Given the description of an element on the screen output the (x, y) to click on. 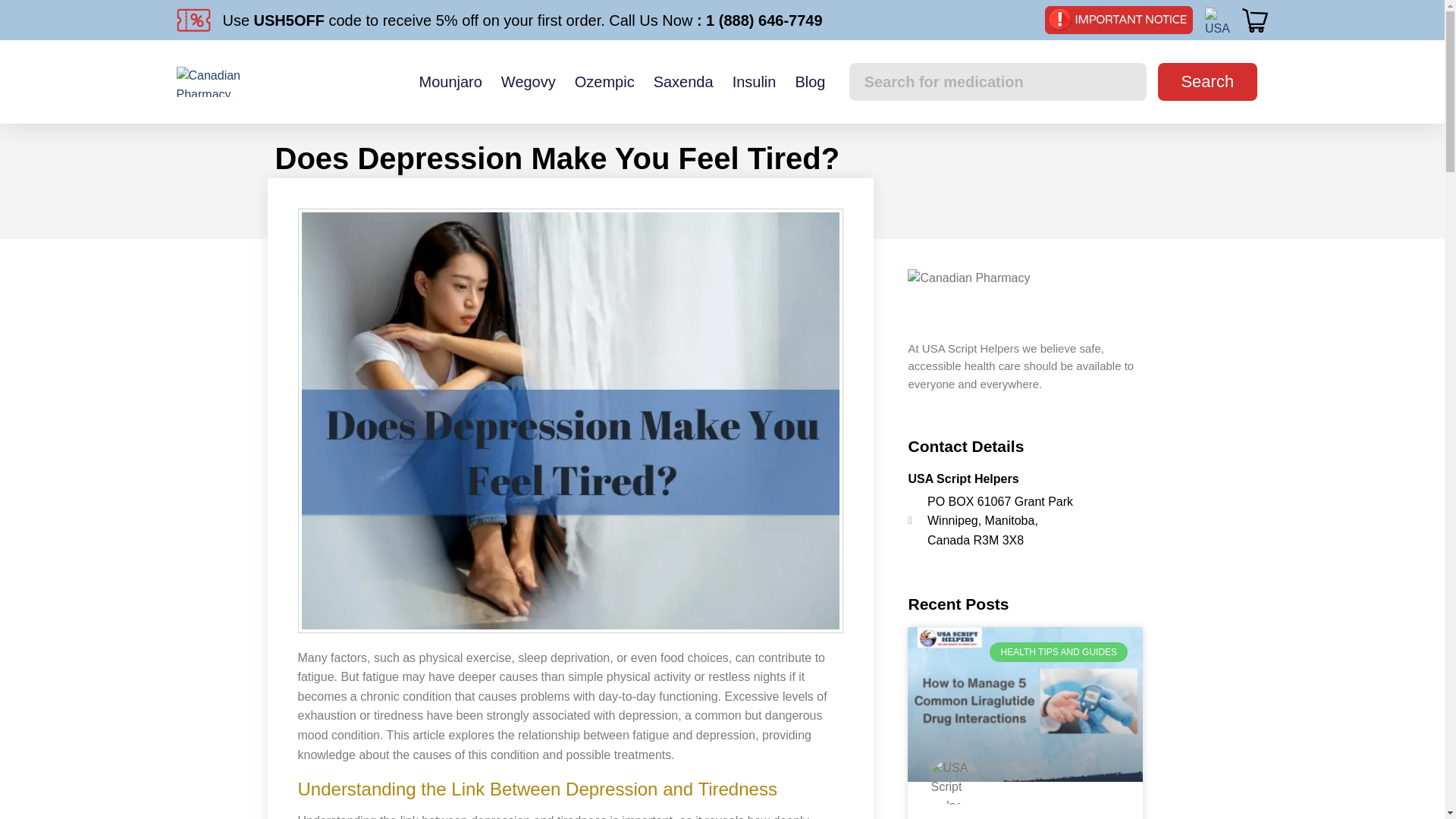
Insulin (754, 81)
Wegovy (528, 81)
Mounjaro (450, 81)
Saxenda (683, 81)
search (1207, 81)
search (1207, 81)
Ozempic (604, 81)
